Given the description of an element on the screen output the (x, y) to click on. 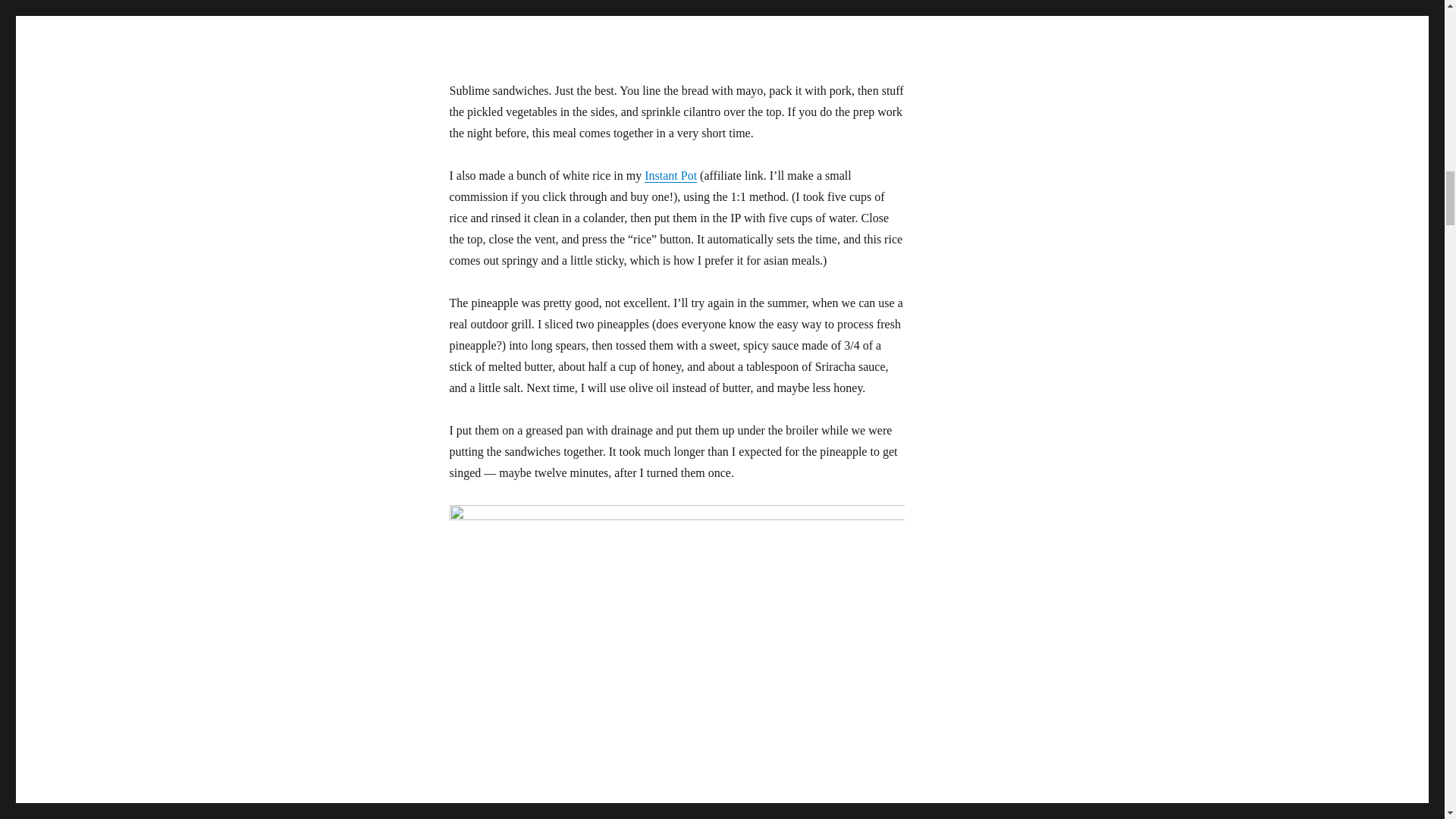
Instant Pot (671, 174)
